Given the description of an element on the screen output the (x, y) to click on. 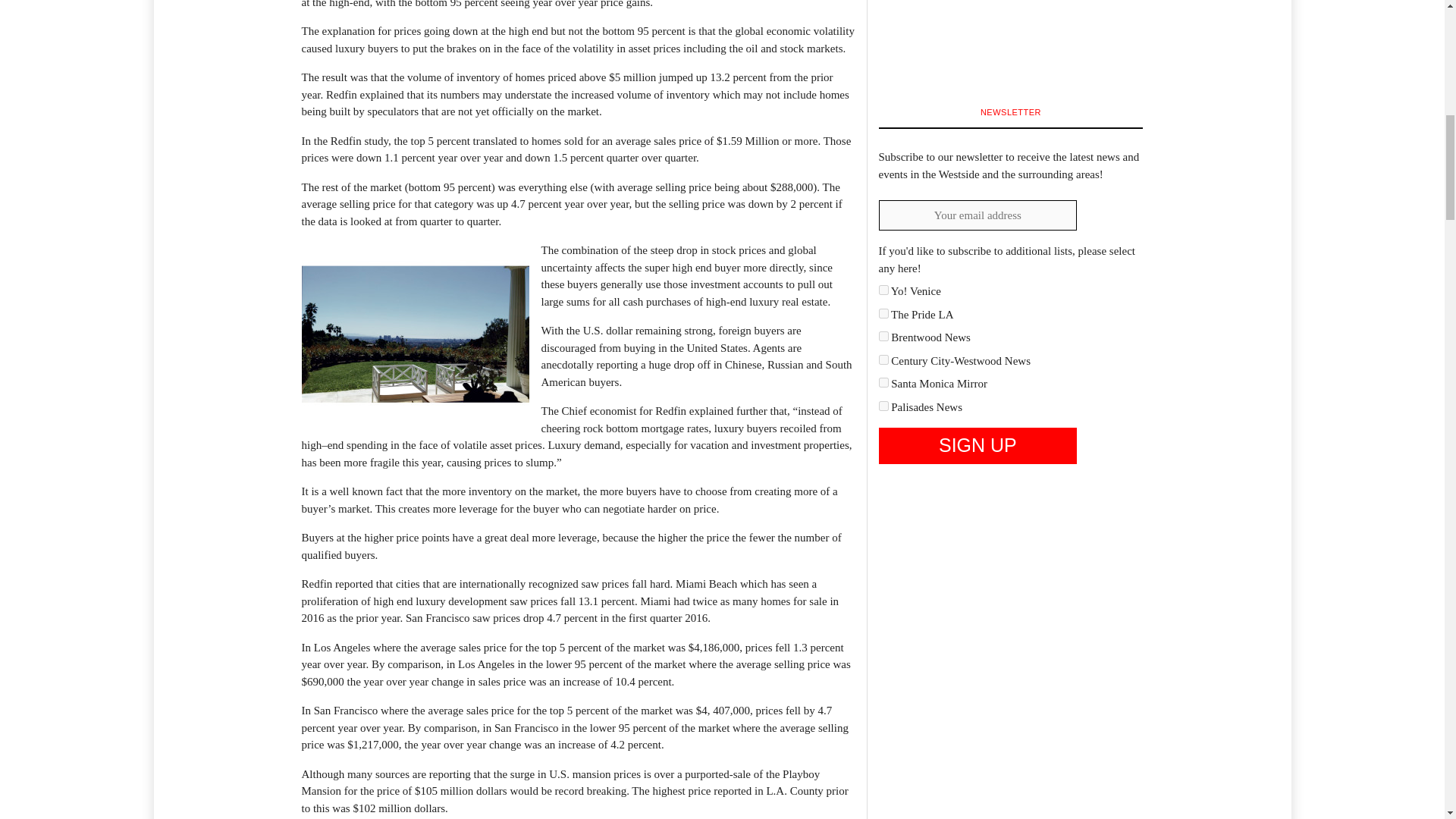
382281a661 (882, 336)
d0b5733862 (882, 382)
2c616d28b5 (882, 289)
ec7d882848 (882, 406)
5fac618226 (882, 359)
Sign up (977, 445)
33f79e7e4d (882, 313)
